Given the description of an element on the screen output the (x, y) to click on. 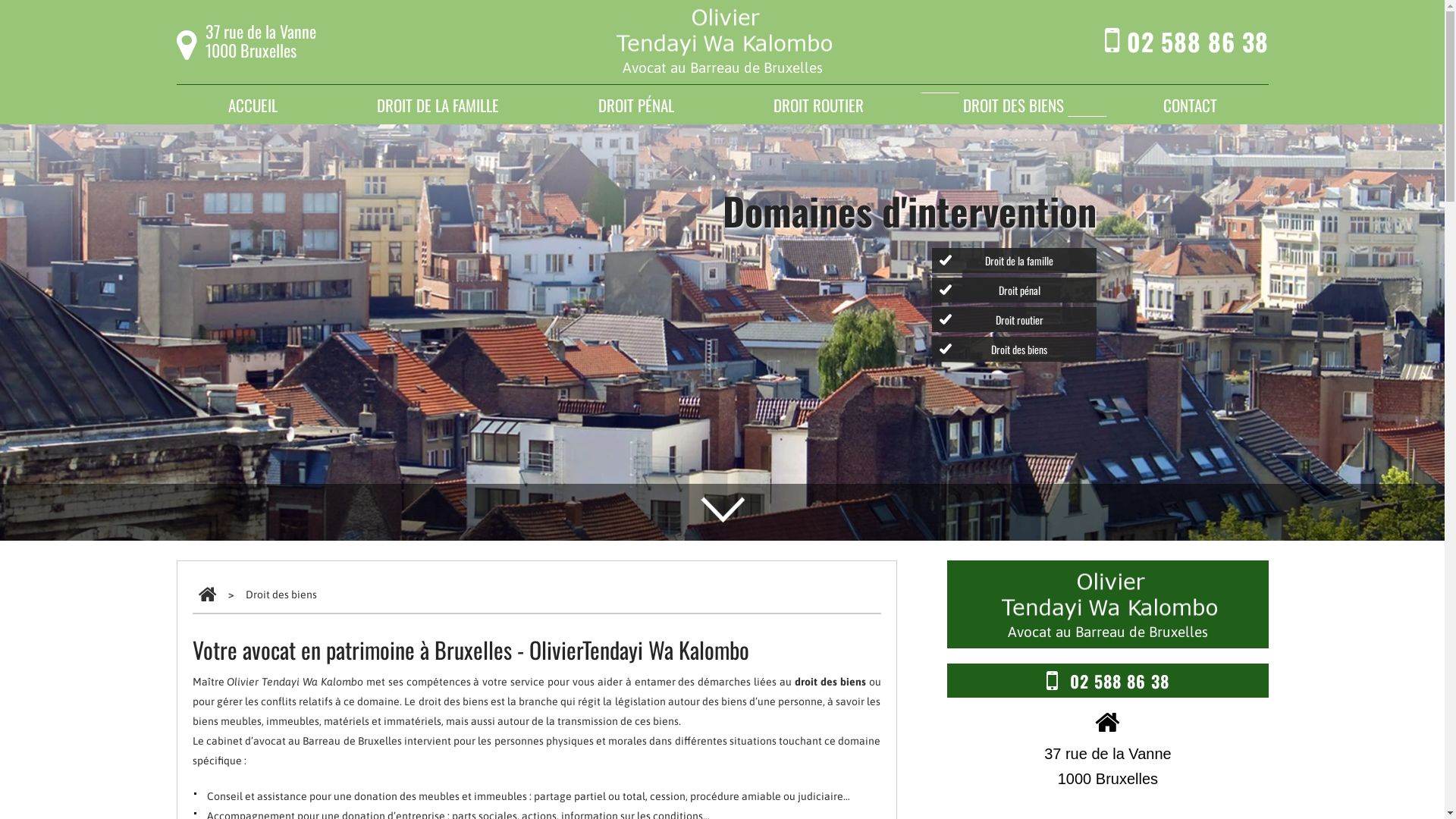
Bas de page Element type: hover (722, 503)
Olivier Tenday Wa Kalombo Element type: hover (721, 29)
DROIT ROUTIER Element type: text (818, 104)
DROIT DE LA FAMILLE Element type: text (436, 104)
Olivier Tenday Wa Kalombo Element type: hover (1107, 593)
ACCUEIL Element type: text (251, 104)
DROIT DES BIENS Element type: text (1013, 104)
CONTACT Element type: text (1189, 104)
